Given the description of an element on the screen output the (x, y) to click on. 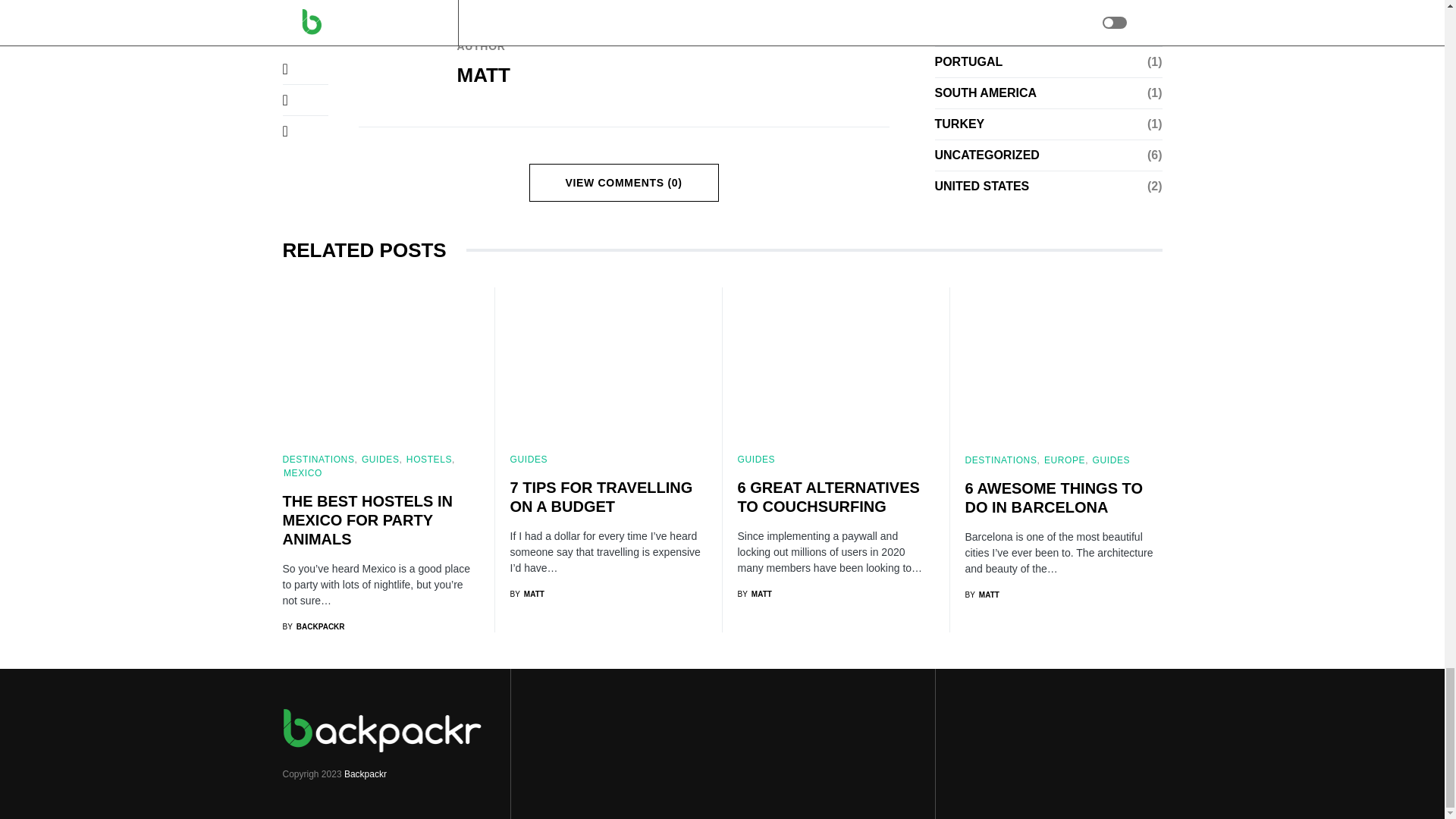
View all posts by Matt (753, 593)
View all posts by Matt (980, 593)
View all posts by Matt (526, 593)
View all posts by Backpackr (312, 626)
